Given the description of an element on the screen output the (x, y) to click on. 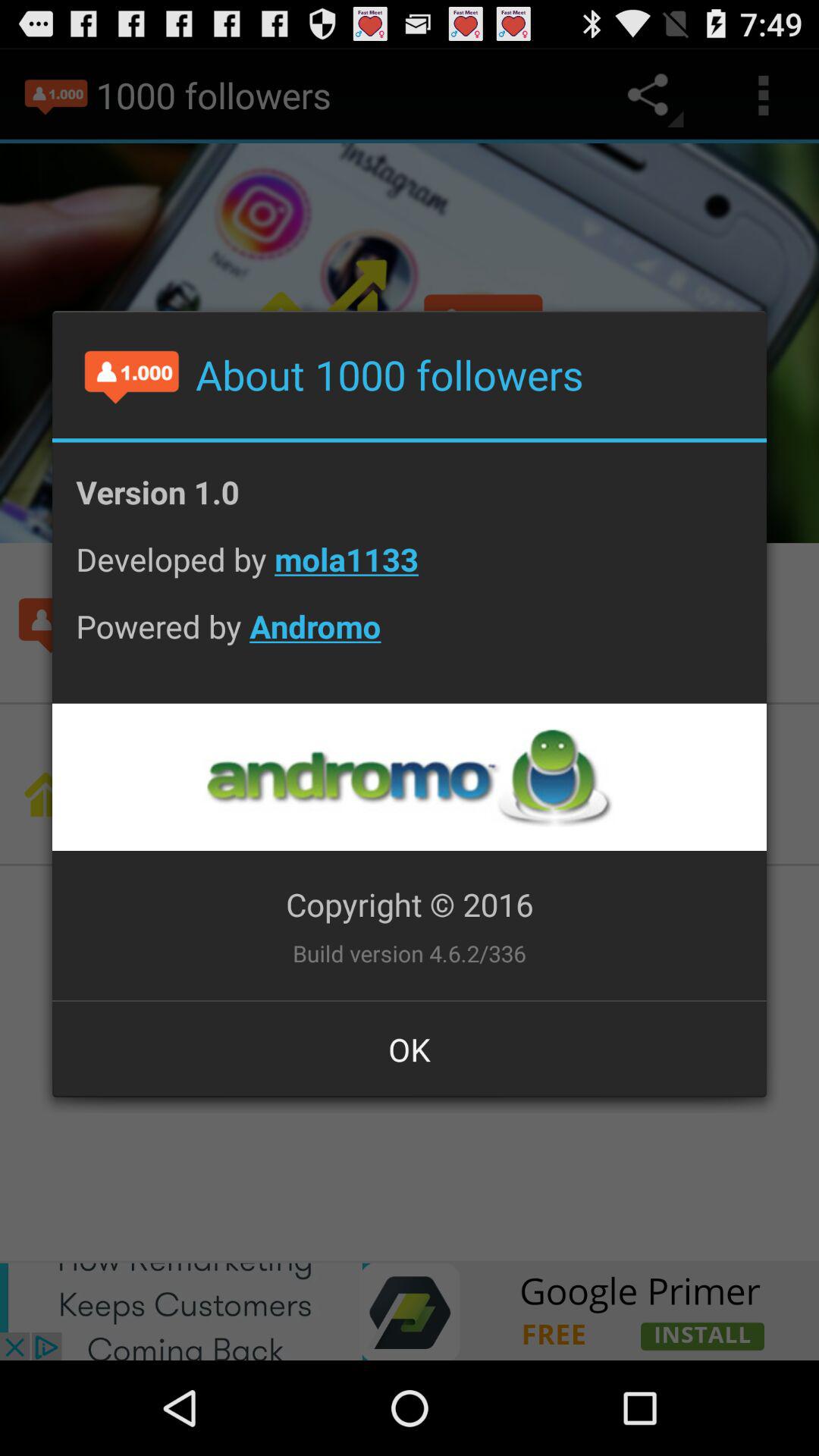
tap developed by mola1133 item (409, 570)
